Given the description of an element on the screen output the (x, y) to click on. 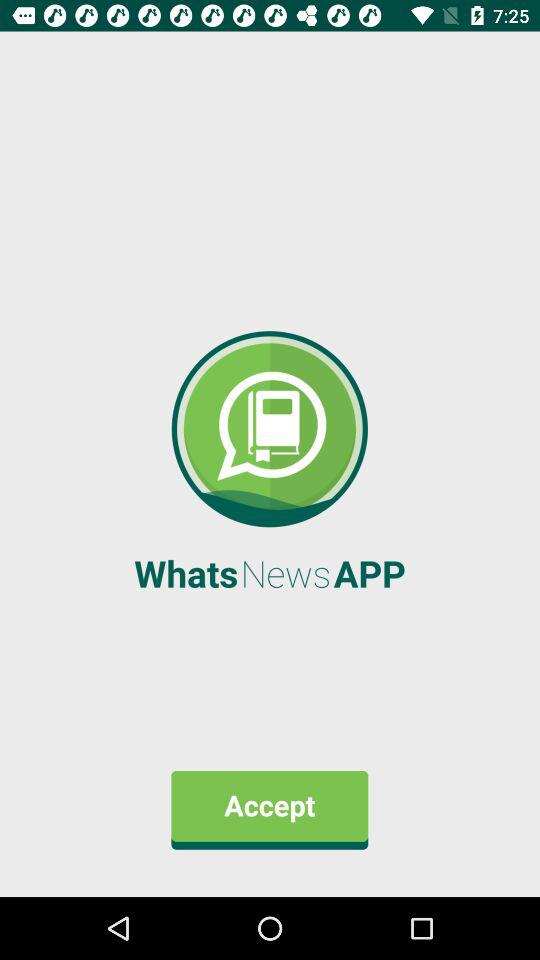
swipe until the accept item (269, 810)
